Given the description of an element on the screen output the (x, y) to click on. 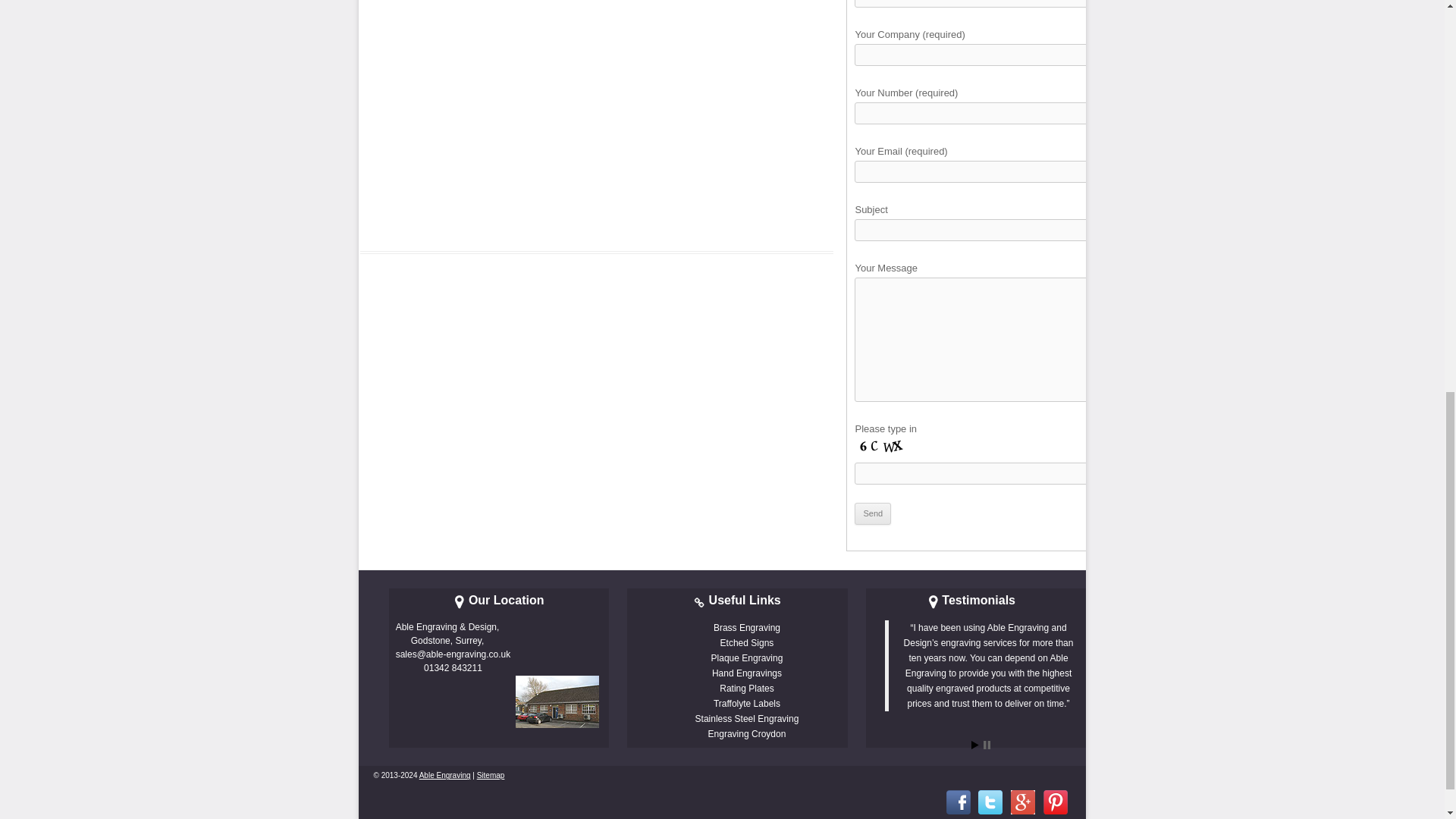
Rating Plates (746, 688)
Safety Signs (746, 703)
Engraved Brass (746, 627)
Send (872, 513)
Engraving Croydon (746, 733)
Engraved Stainless Steel (747, 718)
Hand Engraving (746, 673)
engravers (444, 775)
Engraved Plaques (747, 657)
Etched Signs (747, 643)
